Given the description of an element on the screen output the (x, y) to click on. 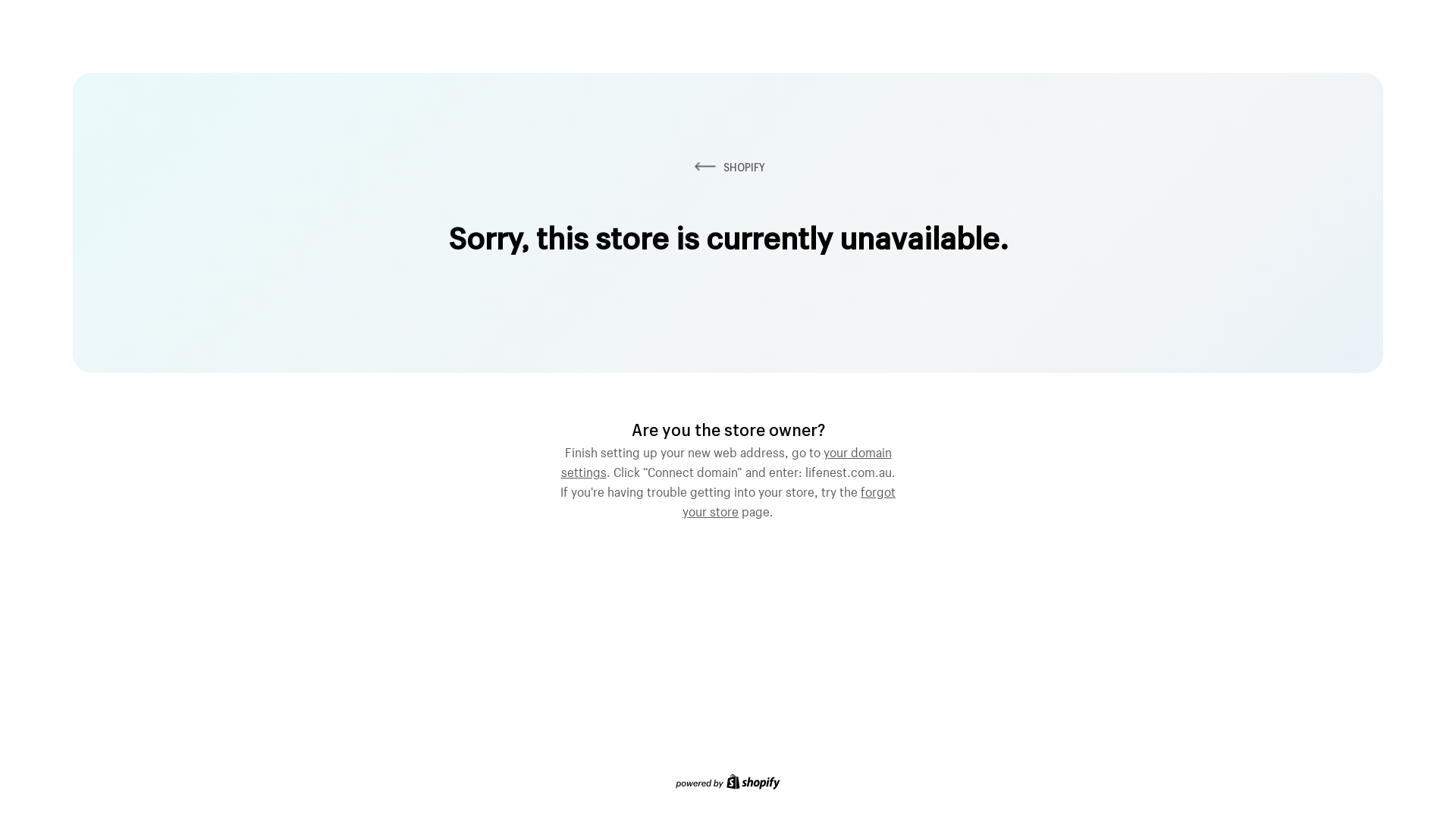
SHOPIFY Element type: text (727, 167)
forgot your store Element type: text (788, 499)
your domain settings Element type: text (726, 460)
